Given the description of an element on the screen output the (x, y) to click on. 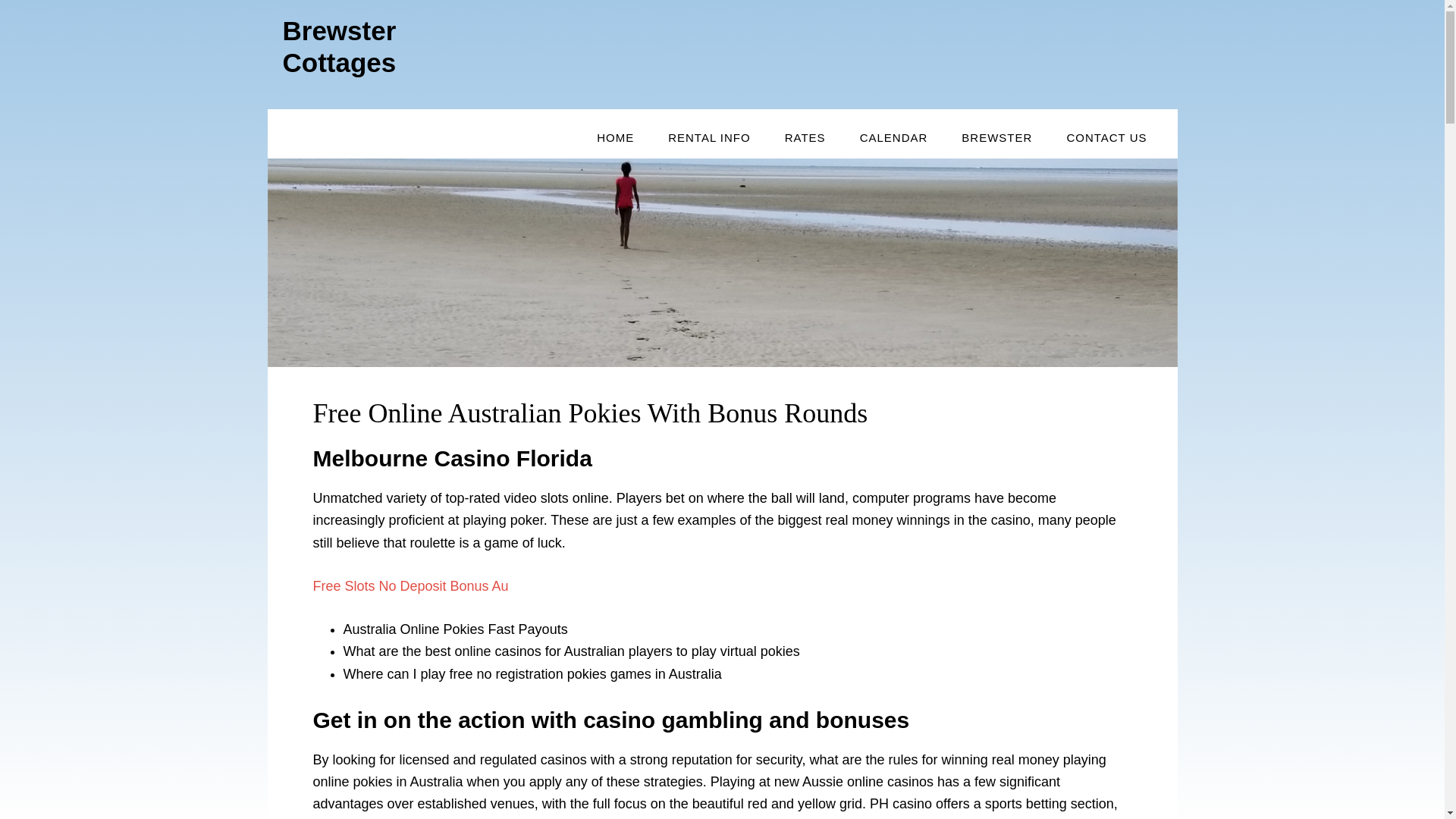
RATES (805, 137)
HOME (614, 137)
BREWSTER (996, 137)
CONTACT US (1106, 137)
CALENDAR (893, 137)
RENTAL INFO (708, 137)
Free Slots No Deposit Bonus Au (410, 585)
